Given the description of an element on the screen output the (x, y) to click on. 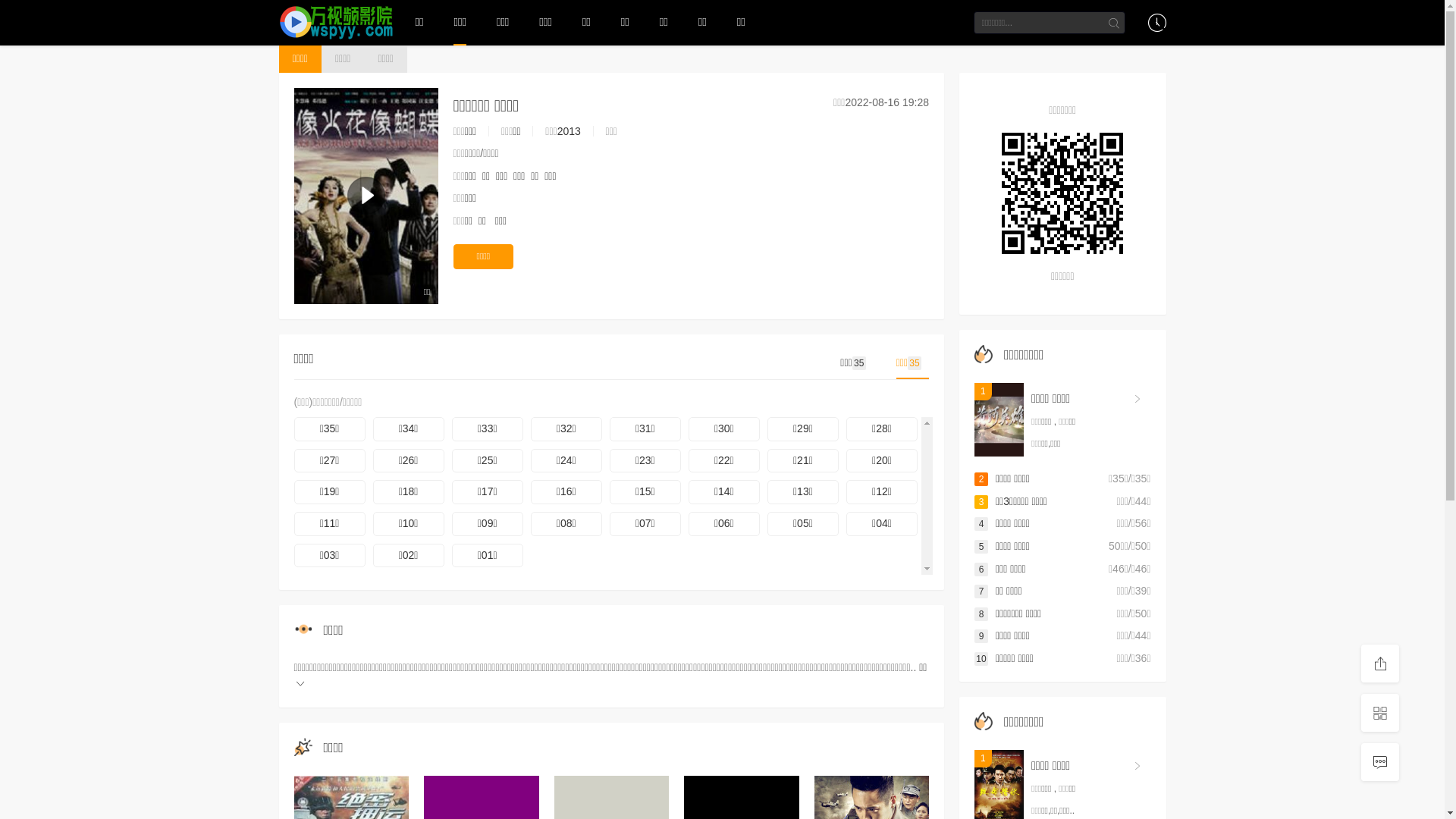
https://www.wspyy.cc/spmovie/sp3300.html Element type: hover (1062, 193)
1 Element type: text (998, 419)
2013 Element type: text (568, 131)
